Given the description of an element on the screen output the (x, y) to click on. 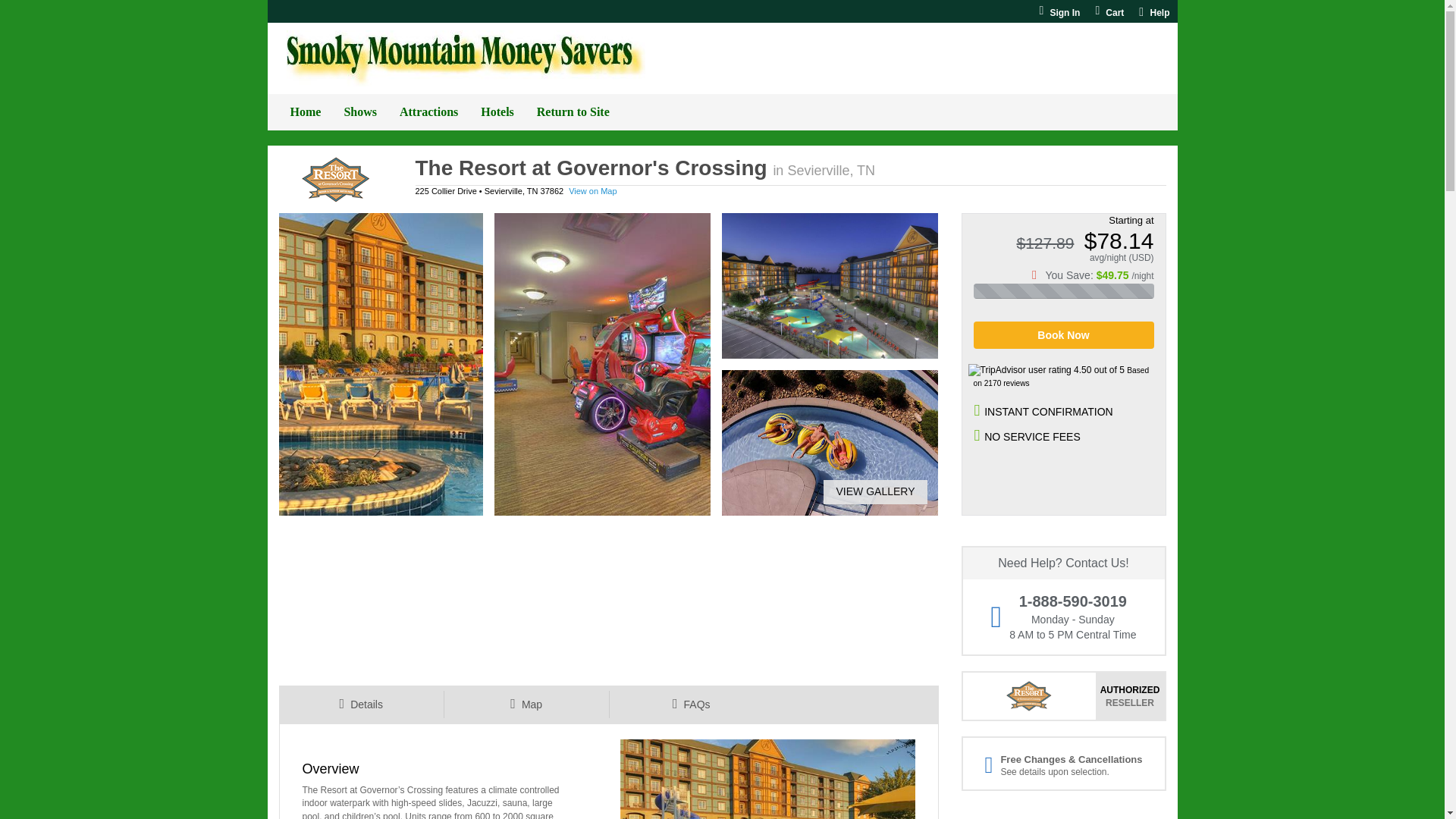
Home (306, 112)
VIEW GALLERY (869, 491)
Return to Site (573, 112)
FAQs (690, 703)
Details (361, 703)
Hotels (496, 112)
Attractions (428, 112)
Help (1153, 12)
Book Now (1064, 334)
View on Map (592, 190)
